Given the description of an element on the screen output the (x, y) to click on. 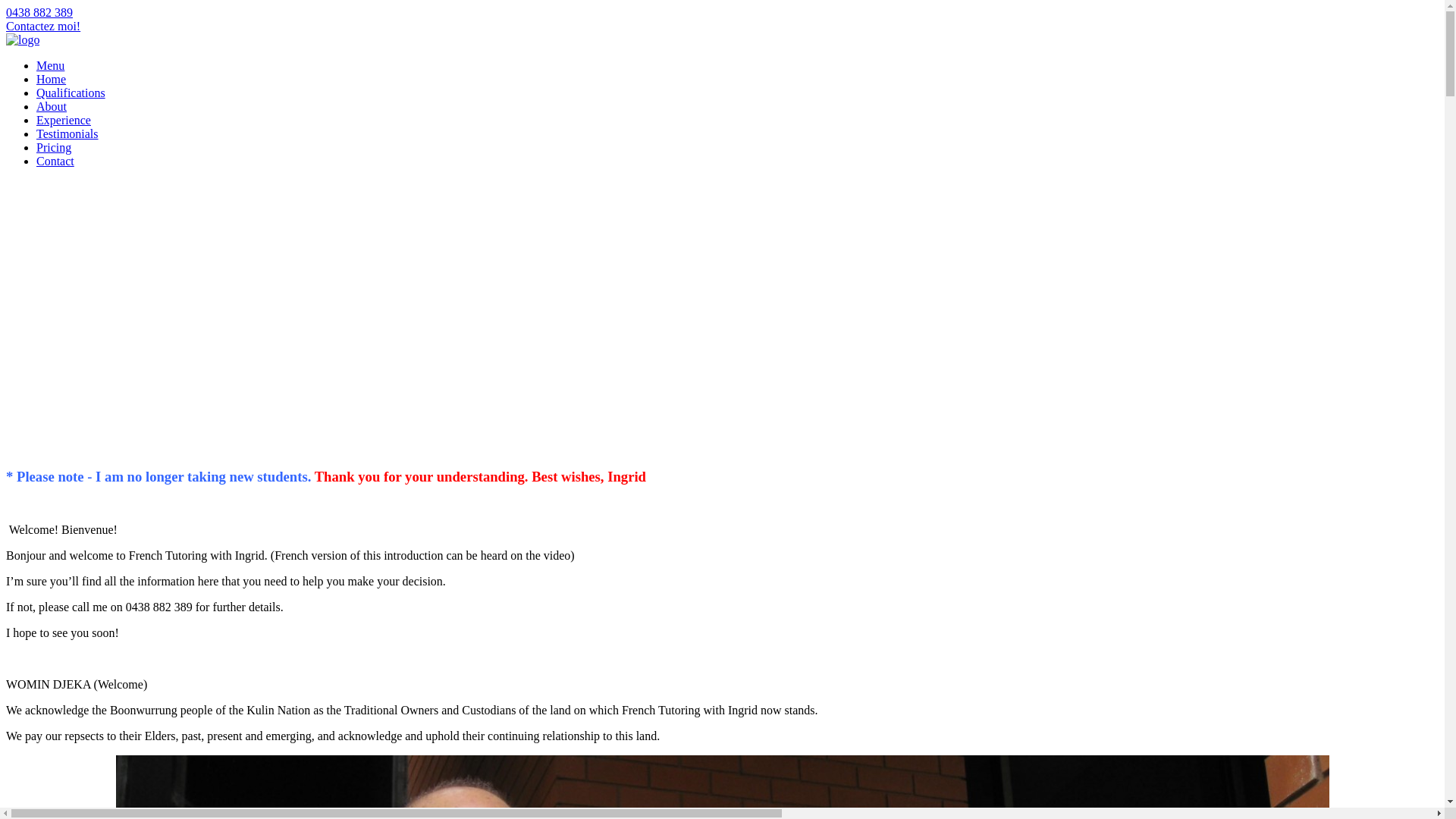
Testimonials Element type: text (67, 133)
Pricing Element type: text (53, 147)
Contact Element type: text (55, 160)
0438 882 389 Element type: text (39, 12)
Contactez moi! Element type: text (43, 25)
Menu Element type: text (50, 65)
Qualifications Element type: text (70, 92)
About Element type: text (51, 106)
Experience Element type: text (63, 119)
Home Element type: text (50, 78)
